Given the description of an element on the screen output the (x, y) to click on. 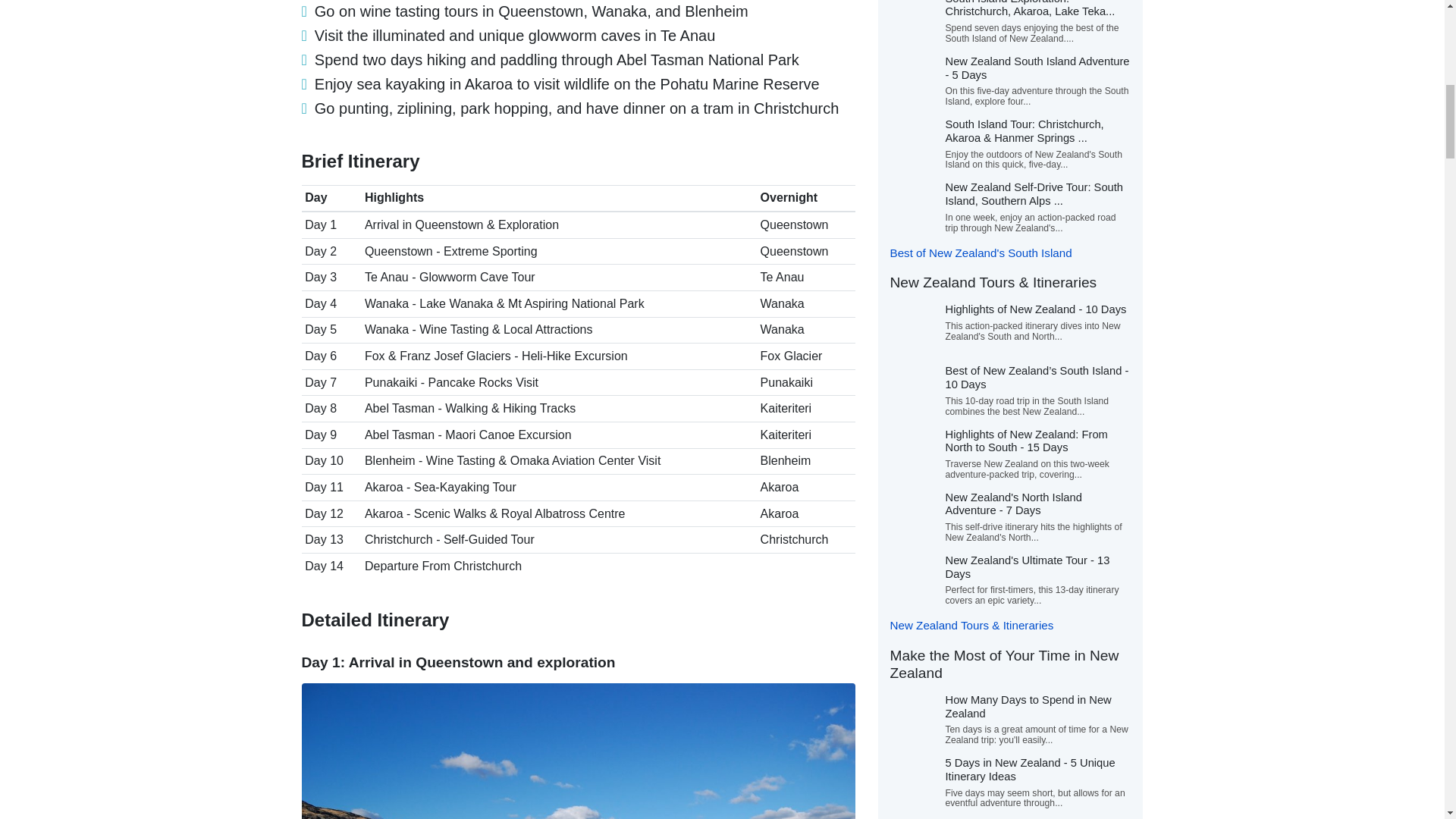
Highlights of New Zealand - 10 Days (1034, 309)
5 Days in New Zealand - 5 Unique Itinerary Ideas (1029, 769)
New Zealand's North Island Adventure - 7 Days (1012, 503)
New Zealand's Ultimate Tour - 13 Days (1026, 566)
How Many Days to Spend in New Zealand (1027, 706)
New Zealand South Island Adventure - 5 Days (1036, 68)
Highlights of New Zealand: From North to South - 15 Days (1025, 441)
